Given the description of an element on the screen output the (x, y) to click on. 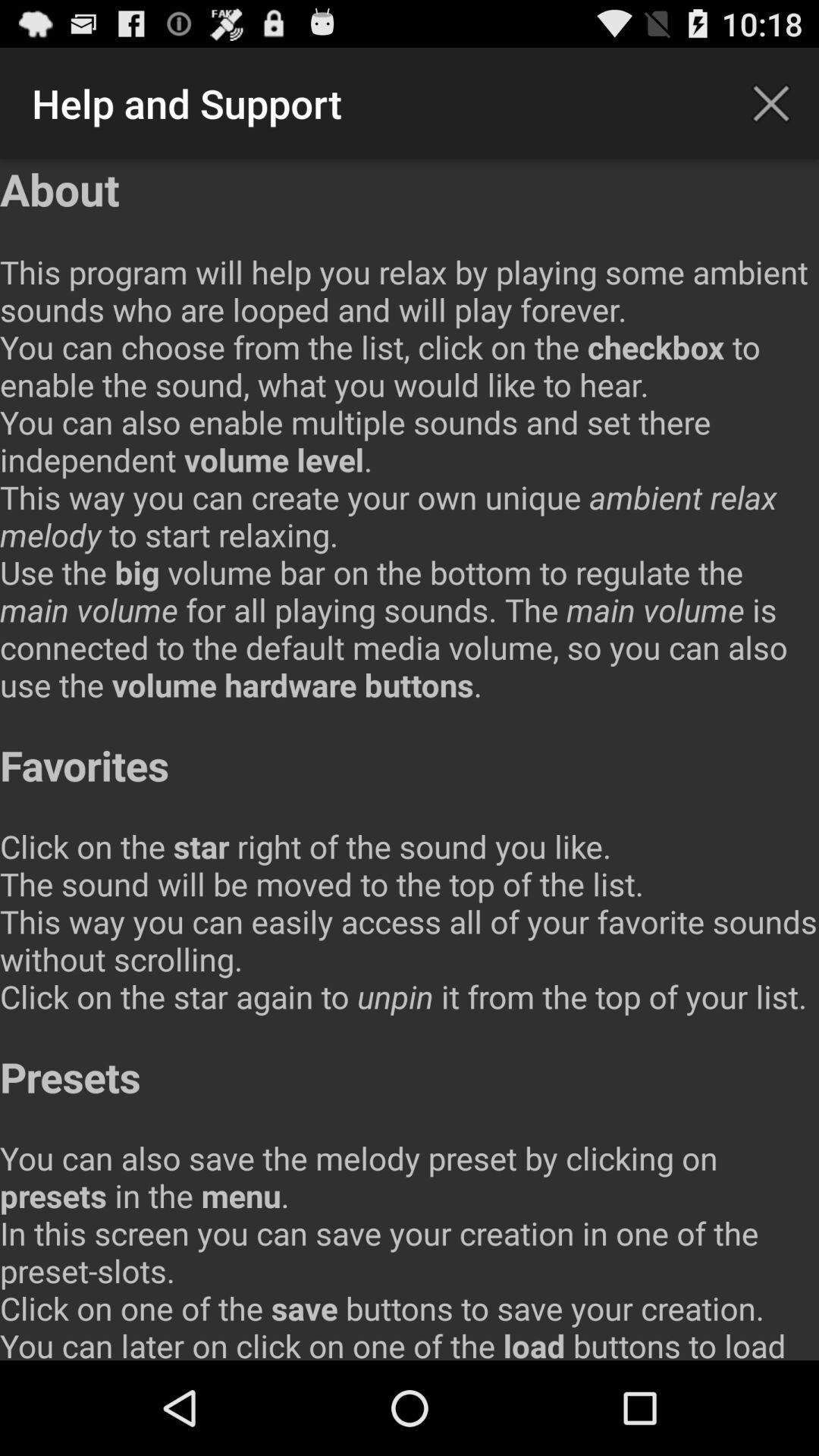
tap app to the right of the help and support icon (771, 103)
